Given the description of an element on the screen output the (x, y) to click on. 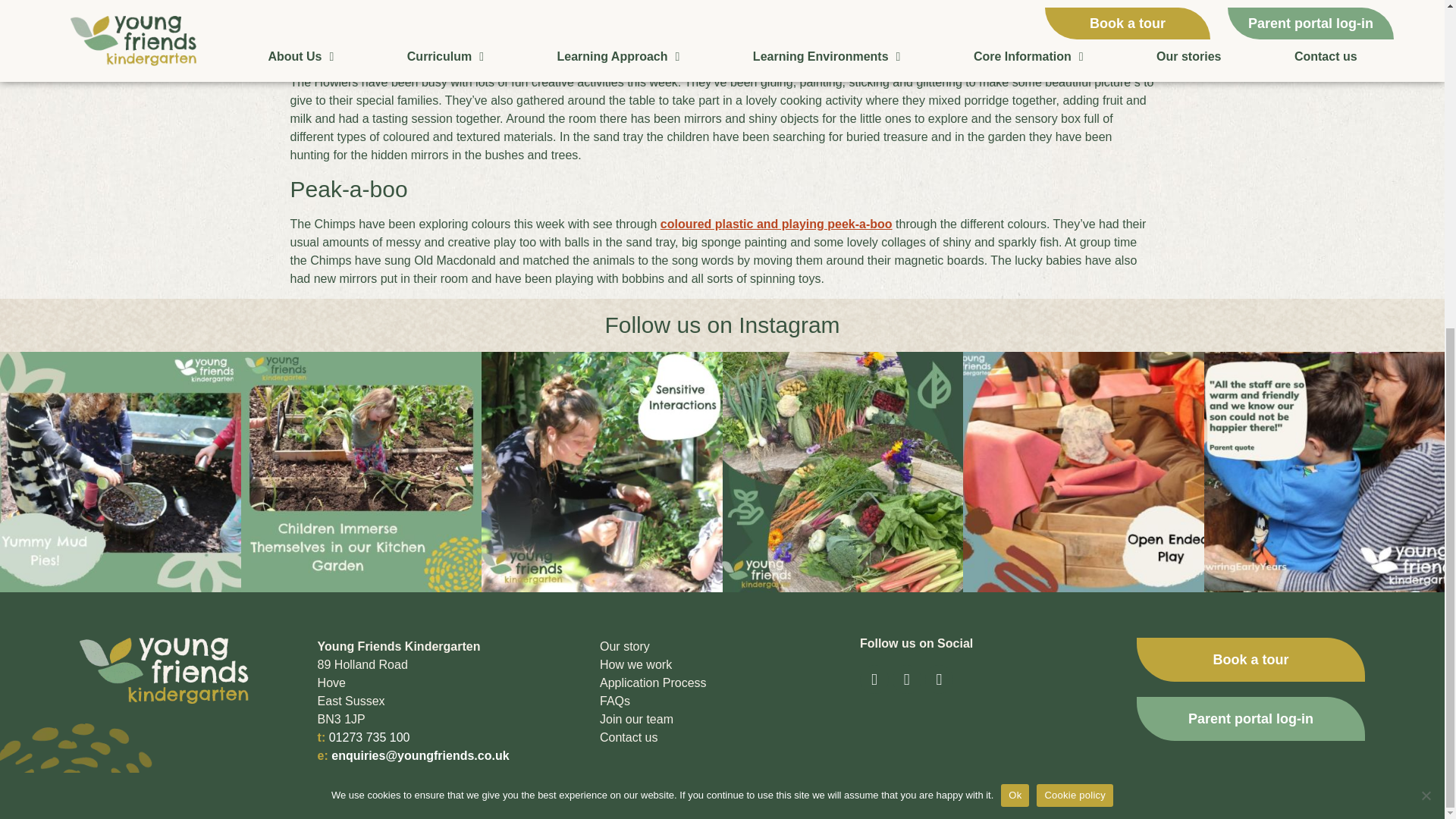
No (1425, 253)
